Given the description of an element on the screen output the (x, y) to click on. 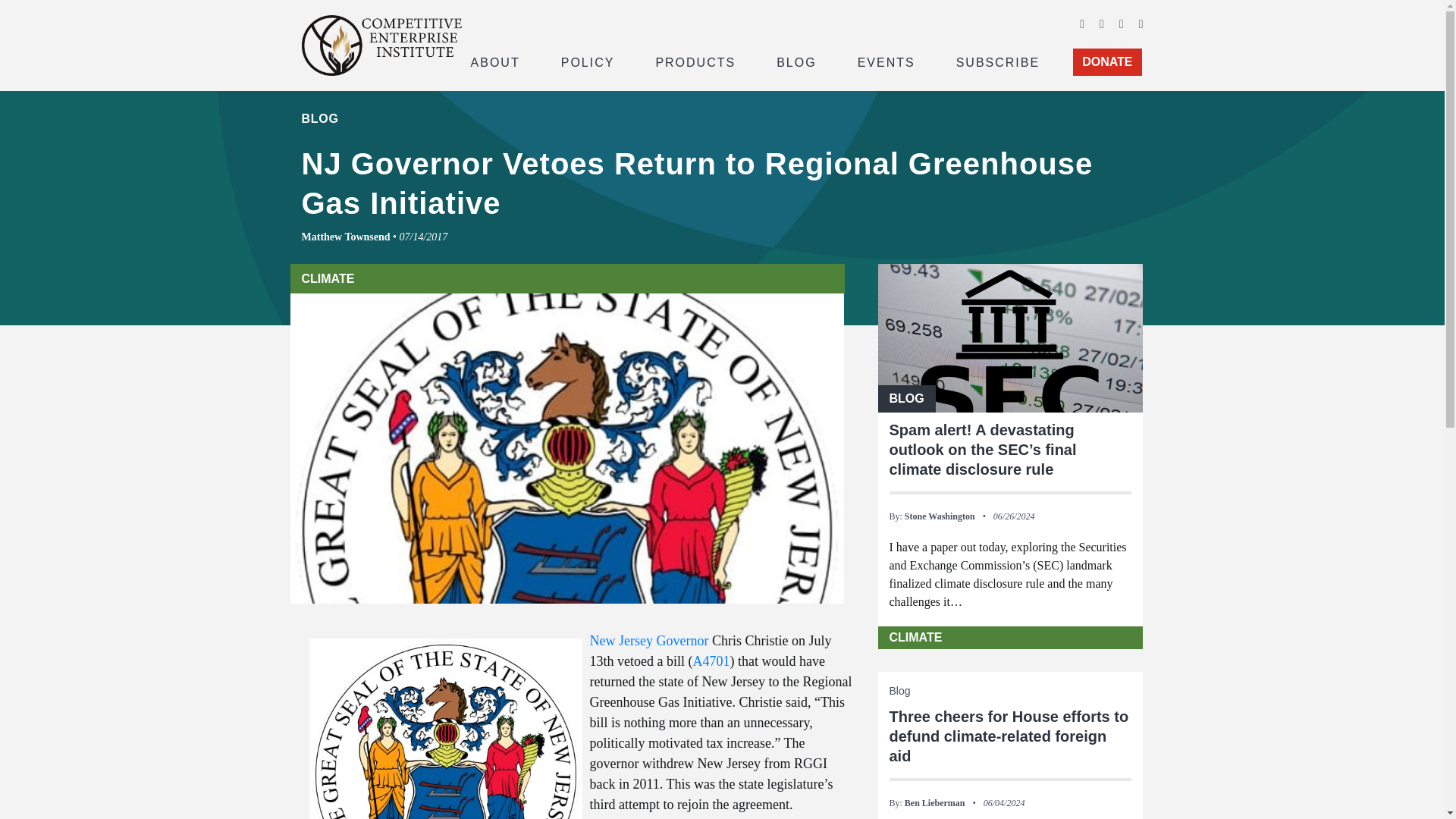
BLOG (796, 61)
PRODUCTS (694, 61)
POLICY (588, 61)
DONATE (1107, 62)
ABOUT (495, 61)
EVENTS (886, 61)
SUBSCRIBE (997, 61)
